Given the description of an element on the screen output the (x, y) to click on. 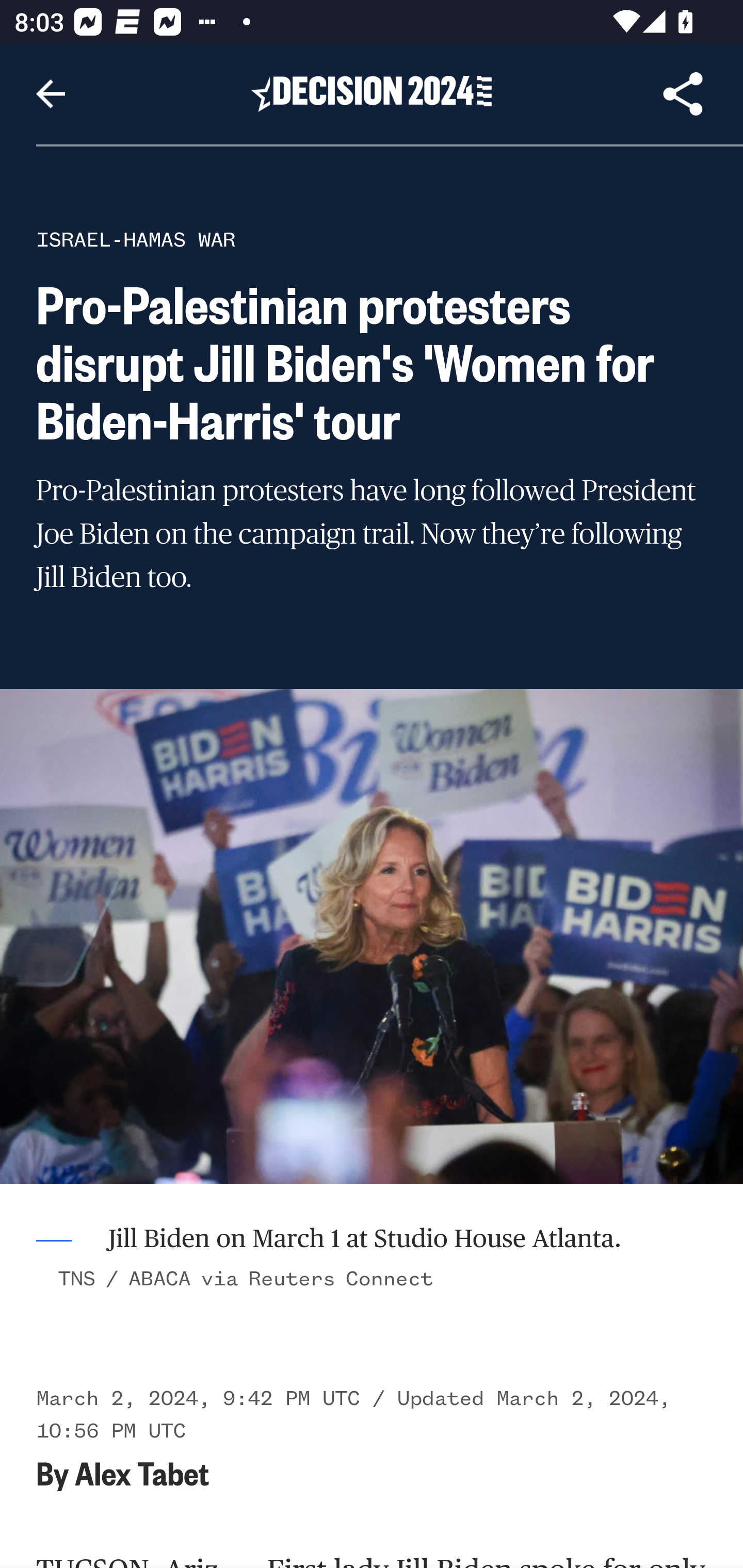
Navigate up (50, 93)
Share Article, button (683, 94)
Header, Decision 2024 (371, 93)
ISRAEL-HAMAS WAR (136, 239)
